Given the description of an element on the screen output the (x, y) to click on. 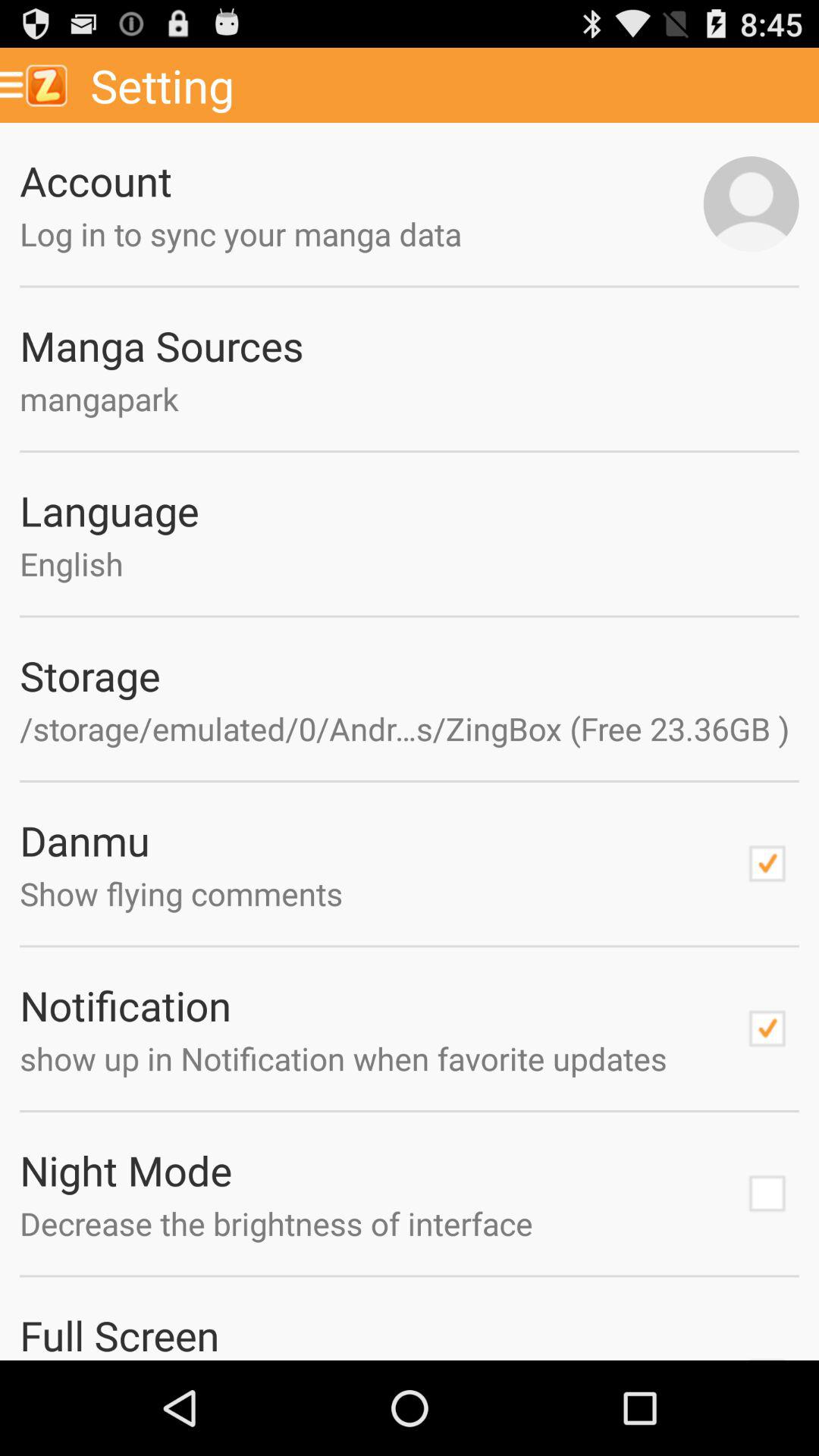
profile picture (751, 203)
